Given the description of an element on the screen output the (x, y) to click on. 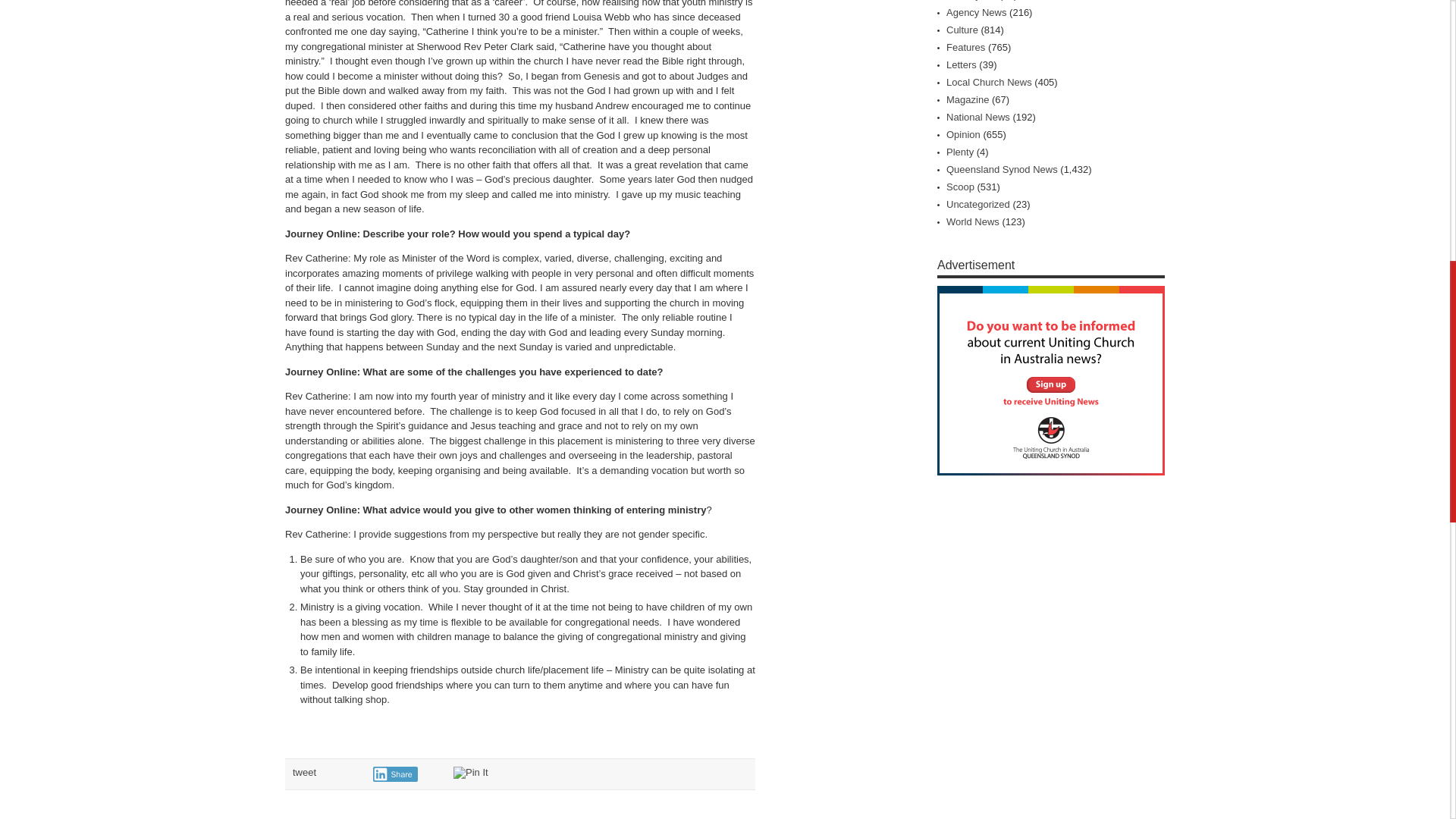
Pin It (469, 772)
Share (394, 774)
tweet (303, 772)
